Given the description of an element on the screen output the (x, y) to click on. 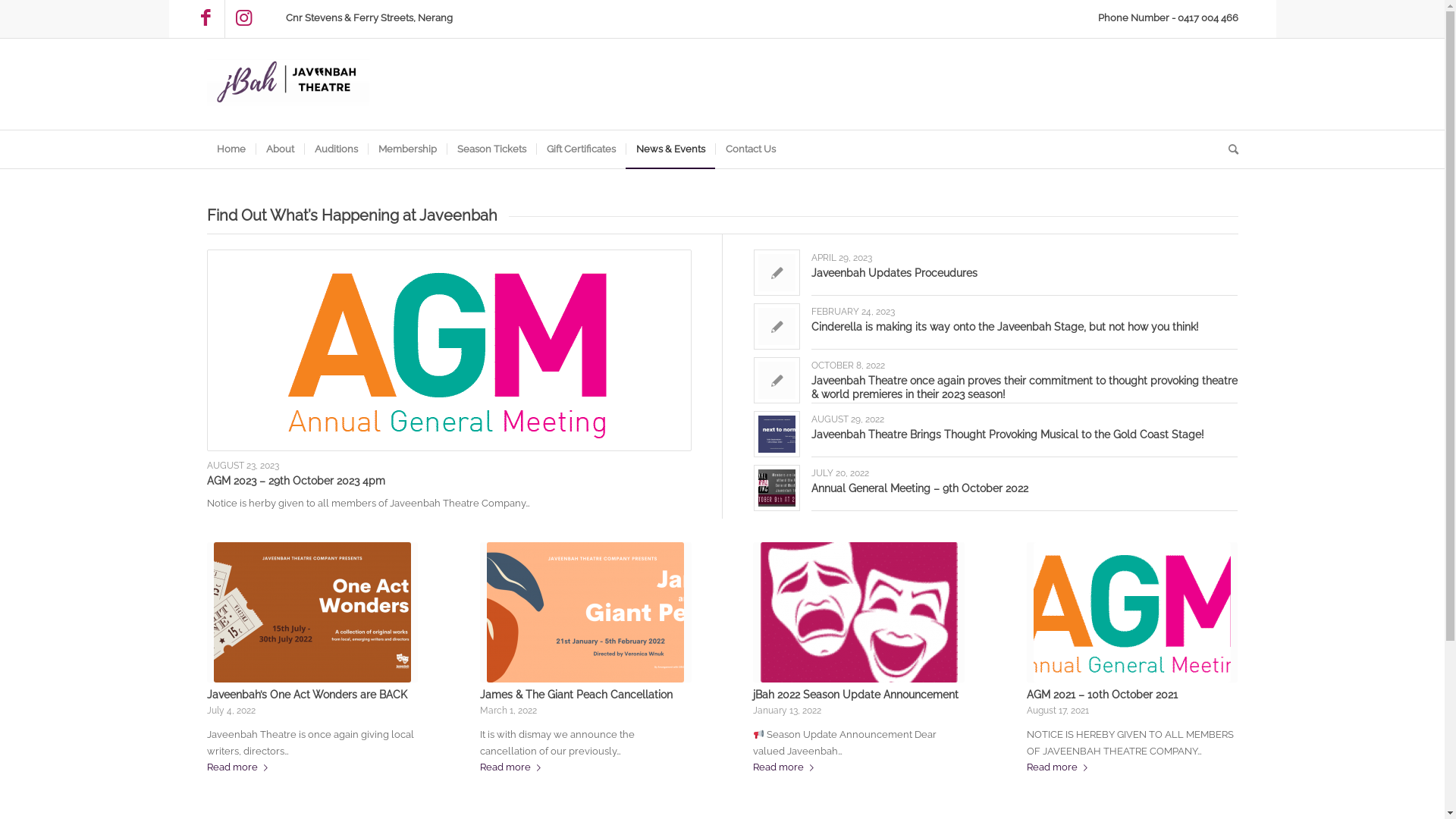
Link to: Javeenbah Updates Proceudures Element type: hover (776, 272)
jBah 2022 Season Update Announcement Element type: text (855, 694)
jBah 2022 Season Update Announcement Element type: hover (858, 612)
Home Element type: text (230, 149)
Read more Element type: text (513, 767)
News & Events Element type: text (669, 149)
Read more Element type: text (786, 767)
Cnr Stevens & Ferry Streets, Nerang Element type: text (368, 16)
Season Tickets Element type: text (490, 149)
About Element type: text (278, 149)
Read more Element type: text (1059, 767)
Gift Certificates Element type: text (579, 149)
Auditions Element type: text (335, 149)
Javeenbah Updates Proceudures Element type: text (894, 272)
Instagram Element type: hover (243, 18)
Read more Element type: text (239, 767)
James & The Giant Peach Cancellation Element type: hover (585, 612)
Facebook Element type: hover (204, 18)
Membership Element type: text (406, 149)
James & The Giant Peach Cancellation Element type: text (576, 694)
Contact Us Element type: text (749, 149)
